Given the description of an element on the screen output the (x, y) to click on. 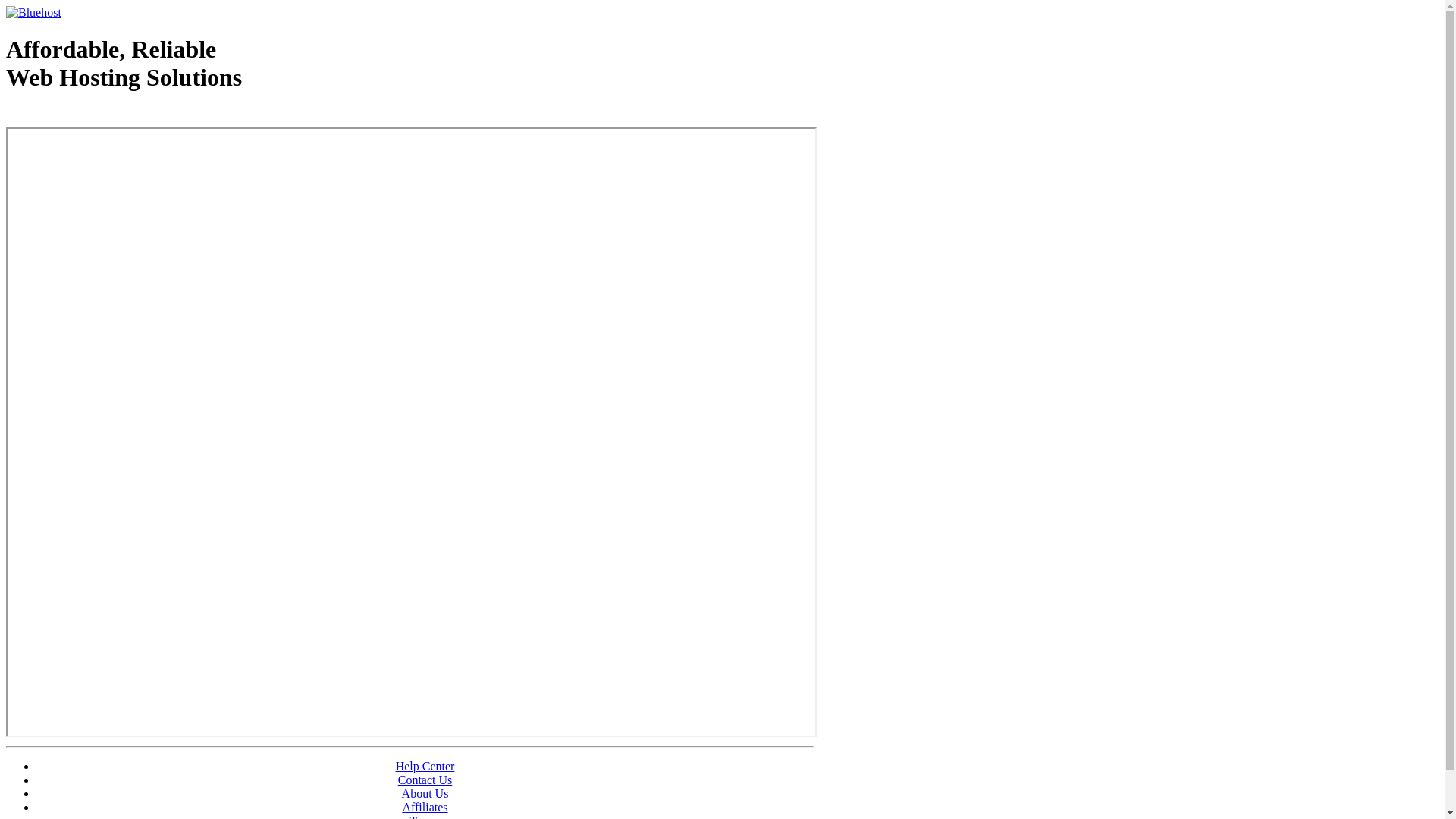
Web Hosting - courtesy of www.bluehost.com Element type: text (94, 115)
Affiliates Element type: text (424, 806)
About Us Element type: text (424, 793)
Contact Us Element type: text (425, 779)
Help Center Element type: text (425, 765)
